Given the description of an element on the screen output the (x, y) to click on. 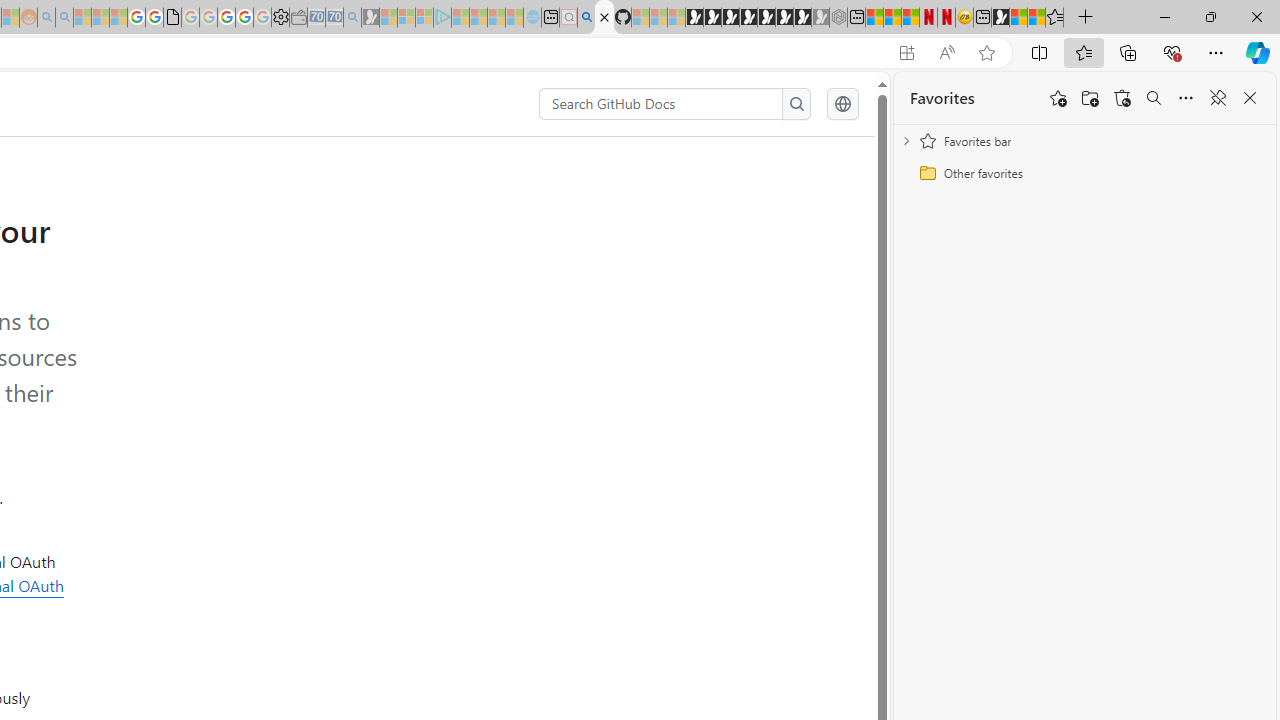
Close favorites (1250, 98)
Play Cave FRVR in your browser | Games from Microsoft Start (729, 17)
Add this page to favorites (1058, 98)
Unpin favorites (1217, 98)
